Given the description of an element on the screen output the (x, y) to click on. 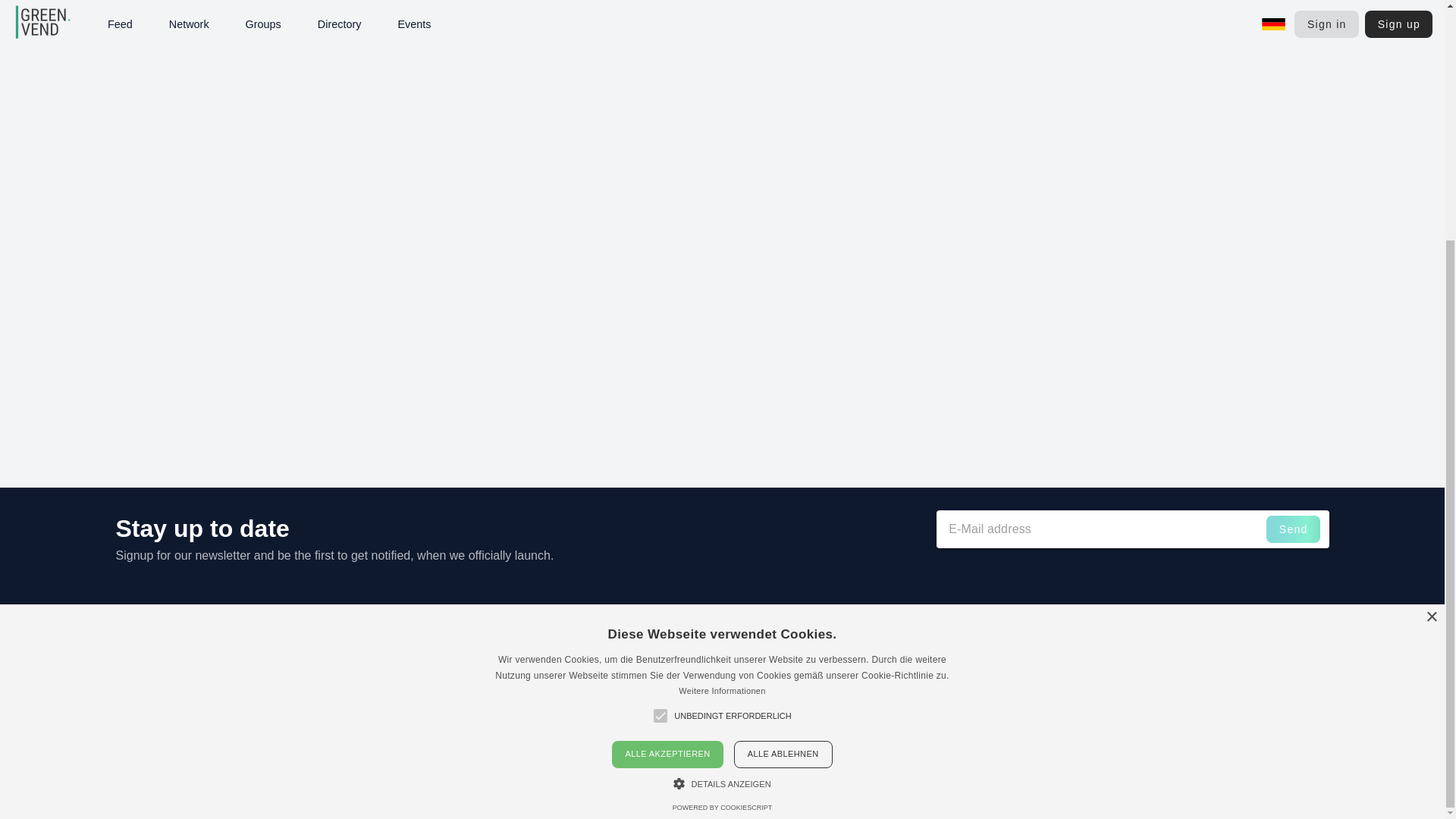
Send (1293, 528)
Home (1122, 636)
Privacy (1239, 672)
Network (1127, 708)
Events (1124, 672)
POWERED BY COOKIESCRIPT (721, 475)
Imprint (1238, 636)
Consent Management Platform (721, 475)
Directory (1128, 690)
Weitere Informationen (721, 358)
Feed (1120, 654)
Blog (1119, 727)
